Given the description of an element on the screen output the (x, y) to click on. 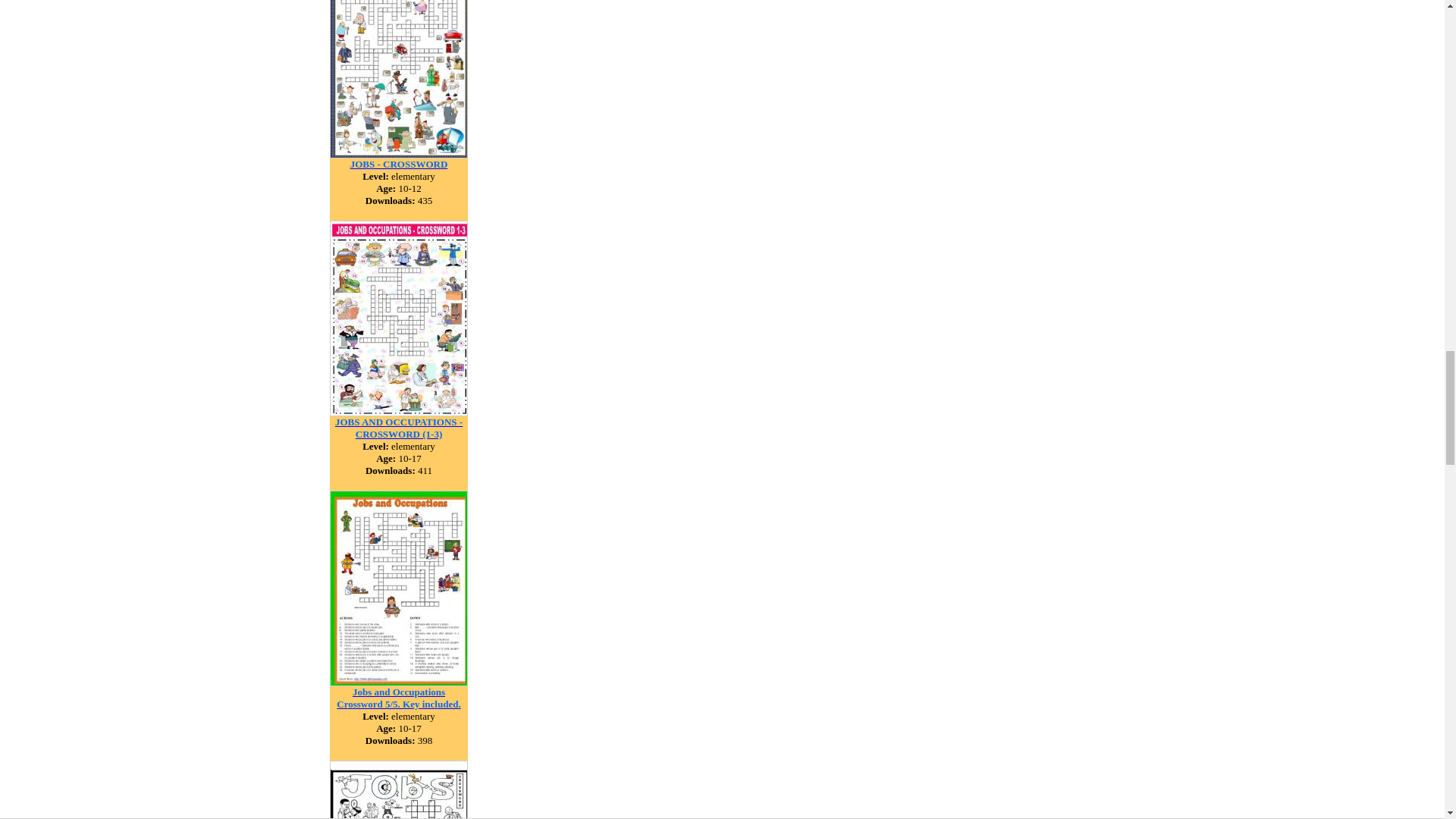
JOBS - CROSSWORD (399, 163)
